Given the description of an element on the screen output the (x, y) to click on. 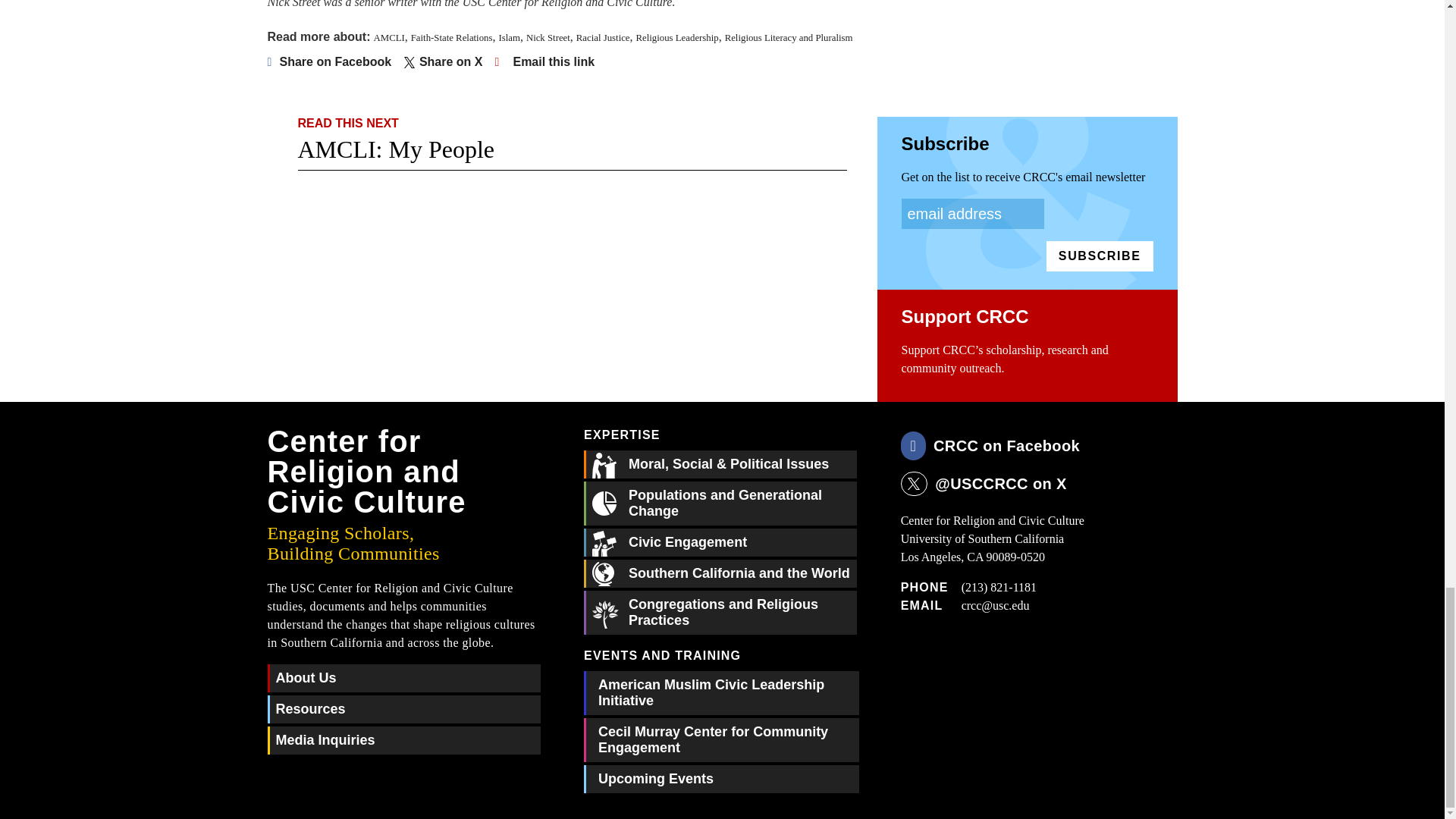
Subscribe (1099, 255)
